Given the description of an element on the screen output the (x, y) to click on. 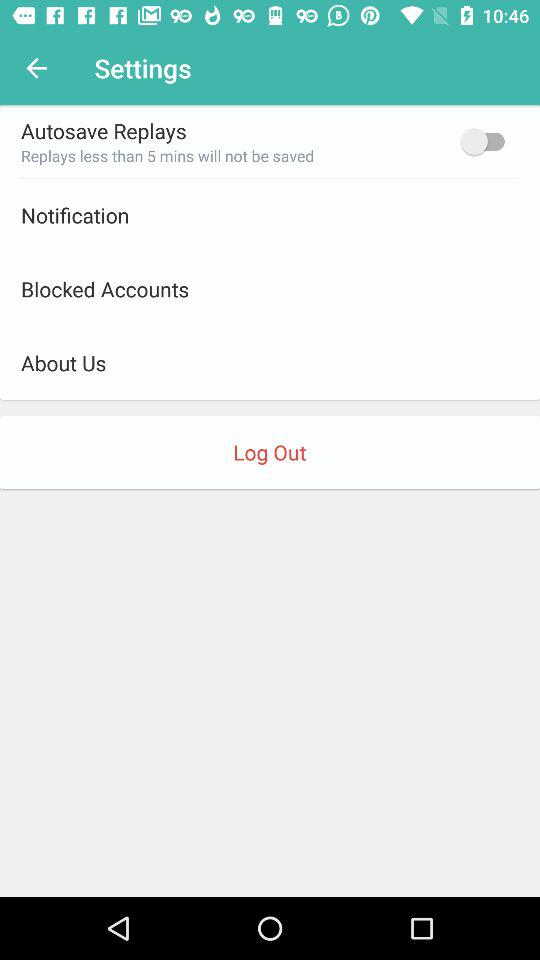
toggle autosave option (487, 141)
